Given the description of an element on the screen output the (x, y) to click on. 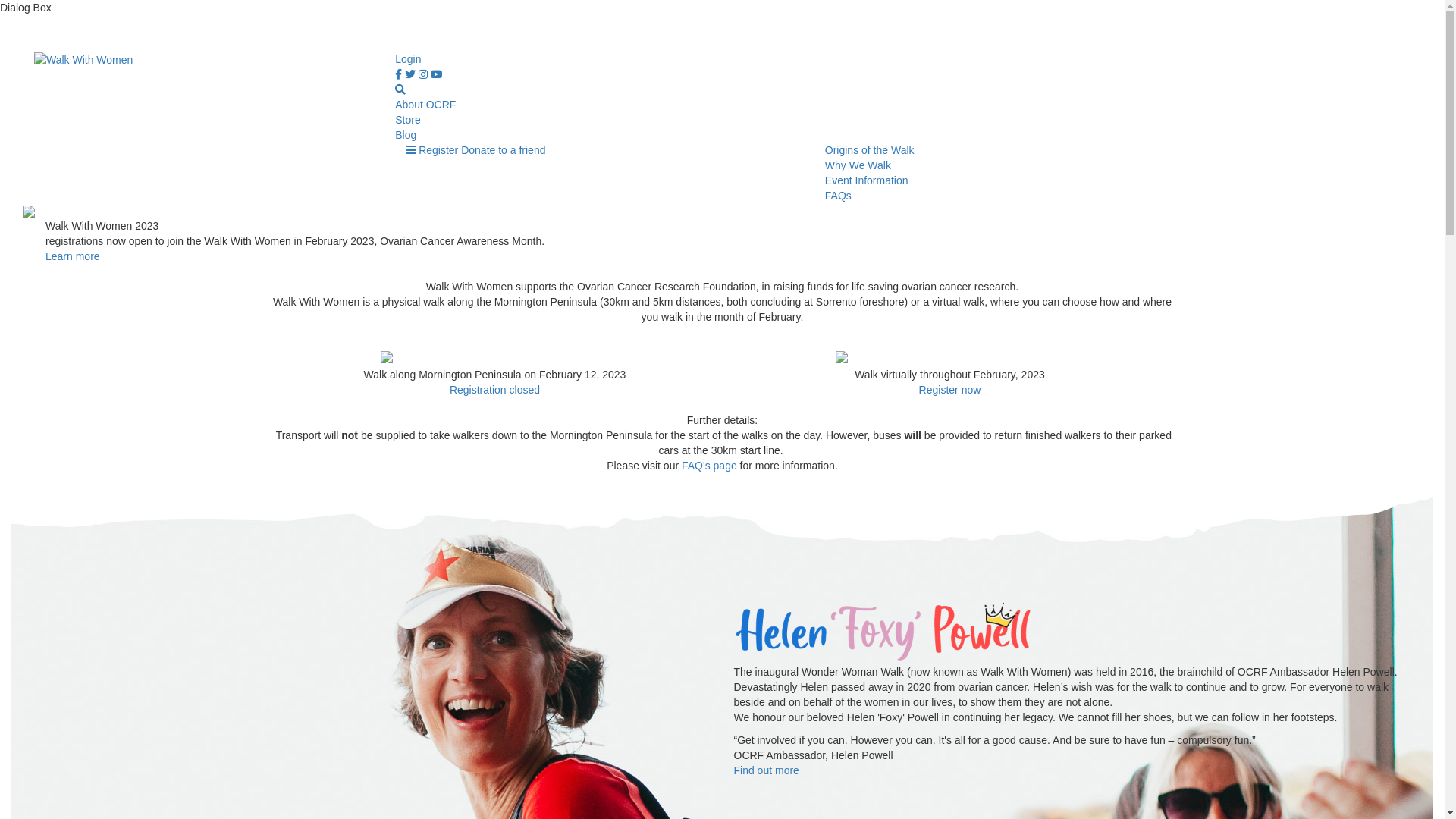
Origins of the Walk Element type: text (869, 150)
Store Element type: text (407, 119)
Register Element type: text (438, 150)
Registration closed Element type: text (494, 389)
Register now Element type: text (950, 389)
Blog Element type: text (405, 134)
Why We Walk Element type: text (858, 165)
Donate to a friend Element type: text (503, 150)
FAQ's page Element type: text (709, 465)
About OCRF Element type: text (425, 104)
Event Information Element type: text (866, 180)
Find out more Element type: text (766, 770)
FAQs Element type: text (838, 195)
Login Element type: text (407, 59)
Learn more Element type: text (72, 256)
